Given the description of an element on the screen output the (x, y) to click on. 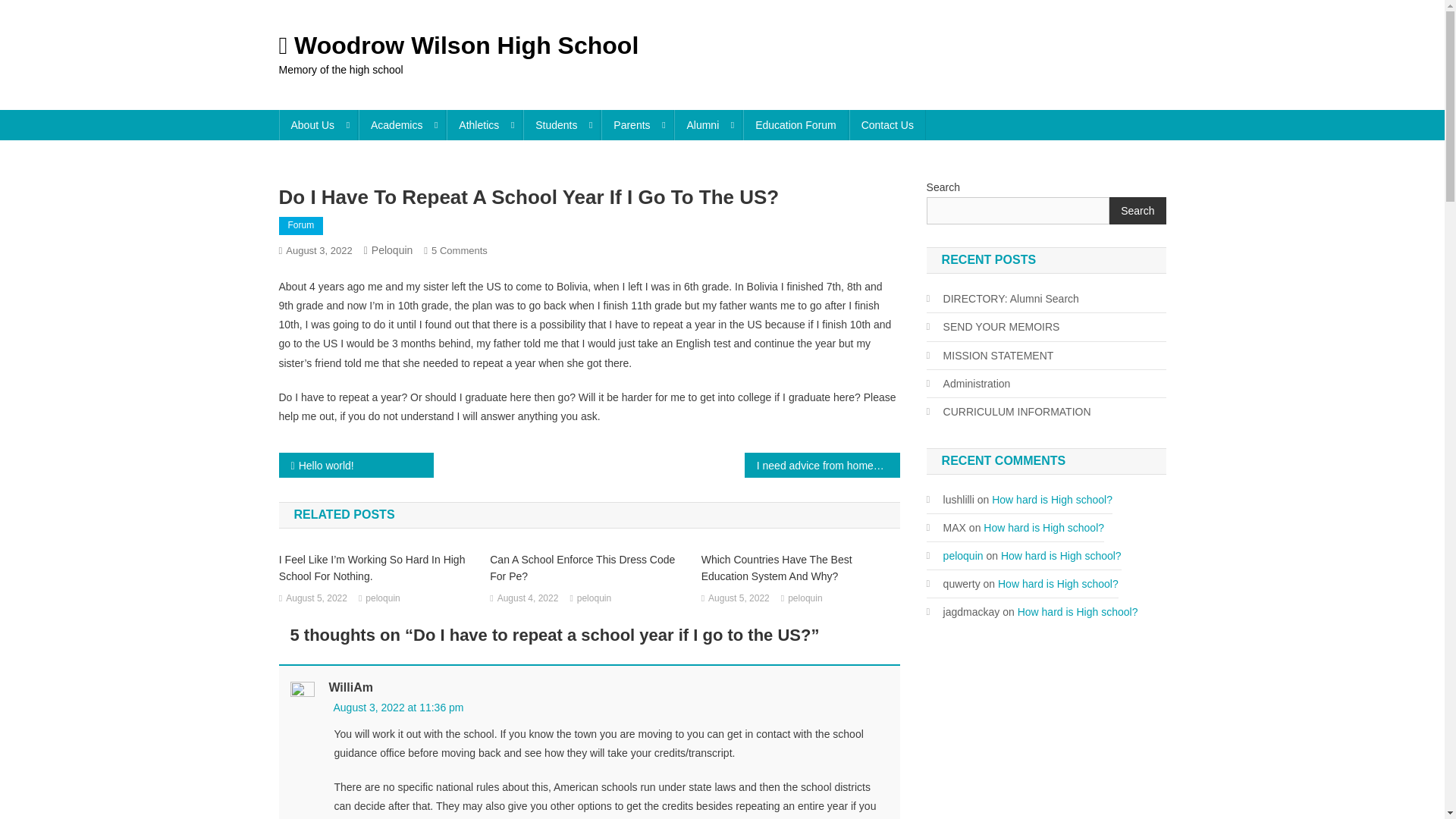
Education Forum (795, 124)
Contact Us (887, 124)
Academics (401, 124)
About Us (318, 124)
Students (560, 124)
Athletics (484, 124)
Search (1133, 135)
Alumni (708, 124)
Parents (636, 124)
